Given the description of an element on the screen output the (x, y) to click on. 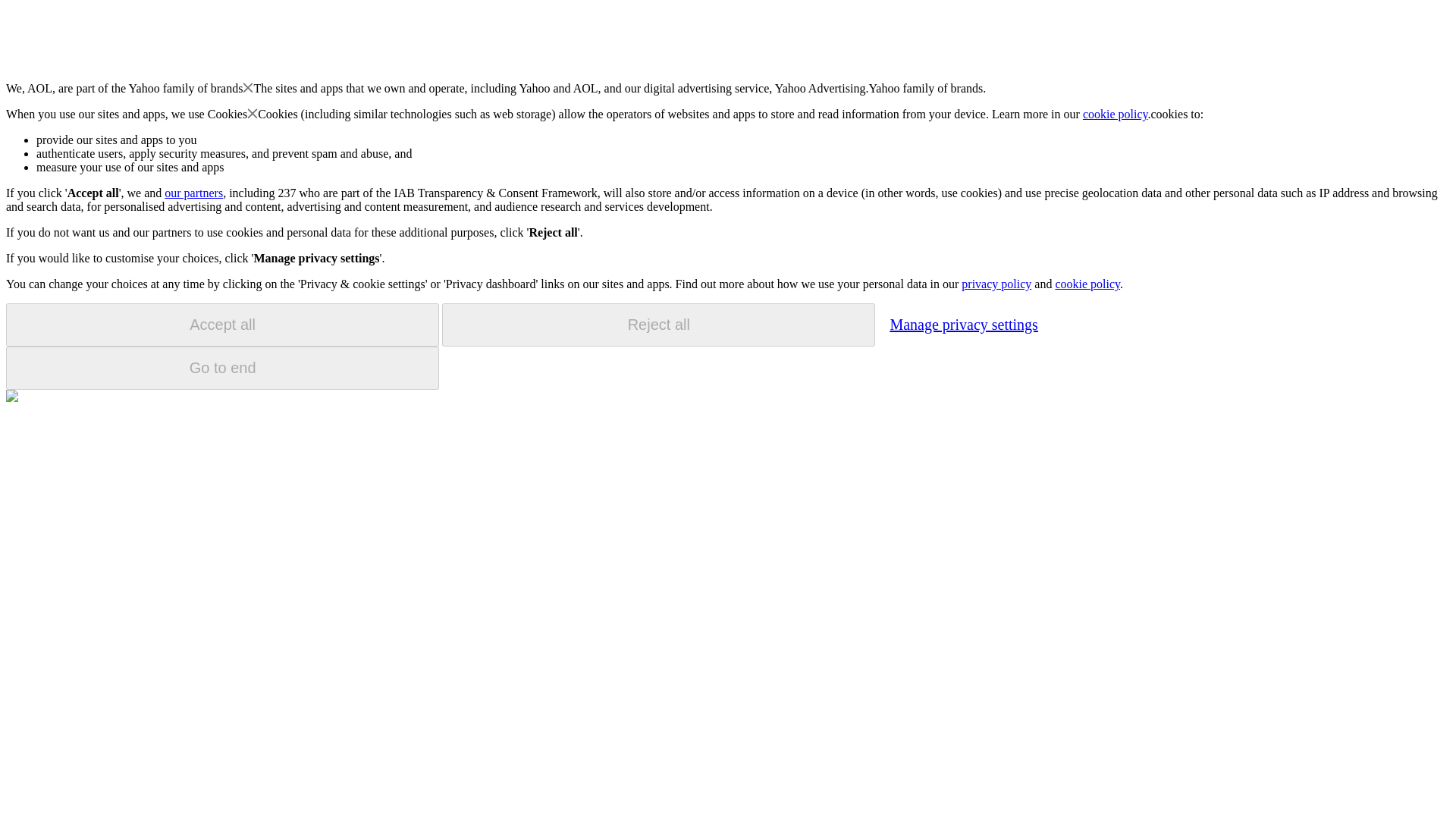
privacy policy (995, 283)
cookie policy (1086, 283)
Reject all (658, 324)
Go to end (222, 367)
Manage privacy settings (963, 323)
our partners (193, 192)
cookie policy (1115, 113)
Accept all (222, 324)
